Given the description of an element on the screen output the (x, y) to click on. 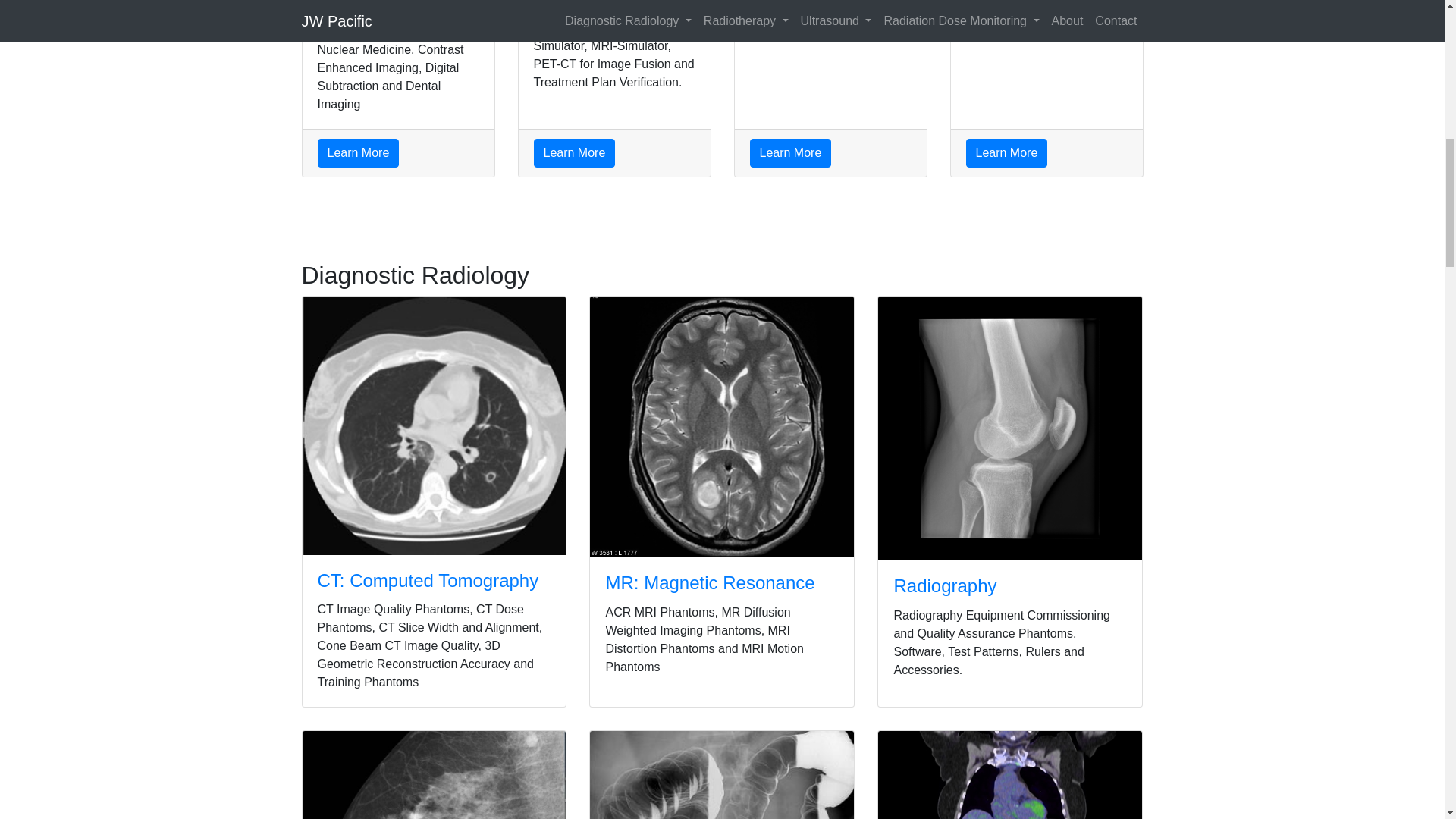
Learn More (357, 152)
Learn More (574, 152)
Learn More (790, 152)
Learn More (1007, 152)
